Given the description of an element on the screen output the (x, y) to click on. 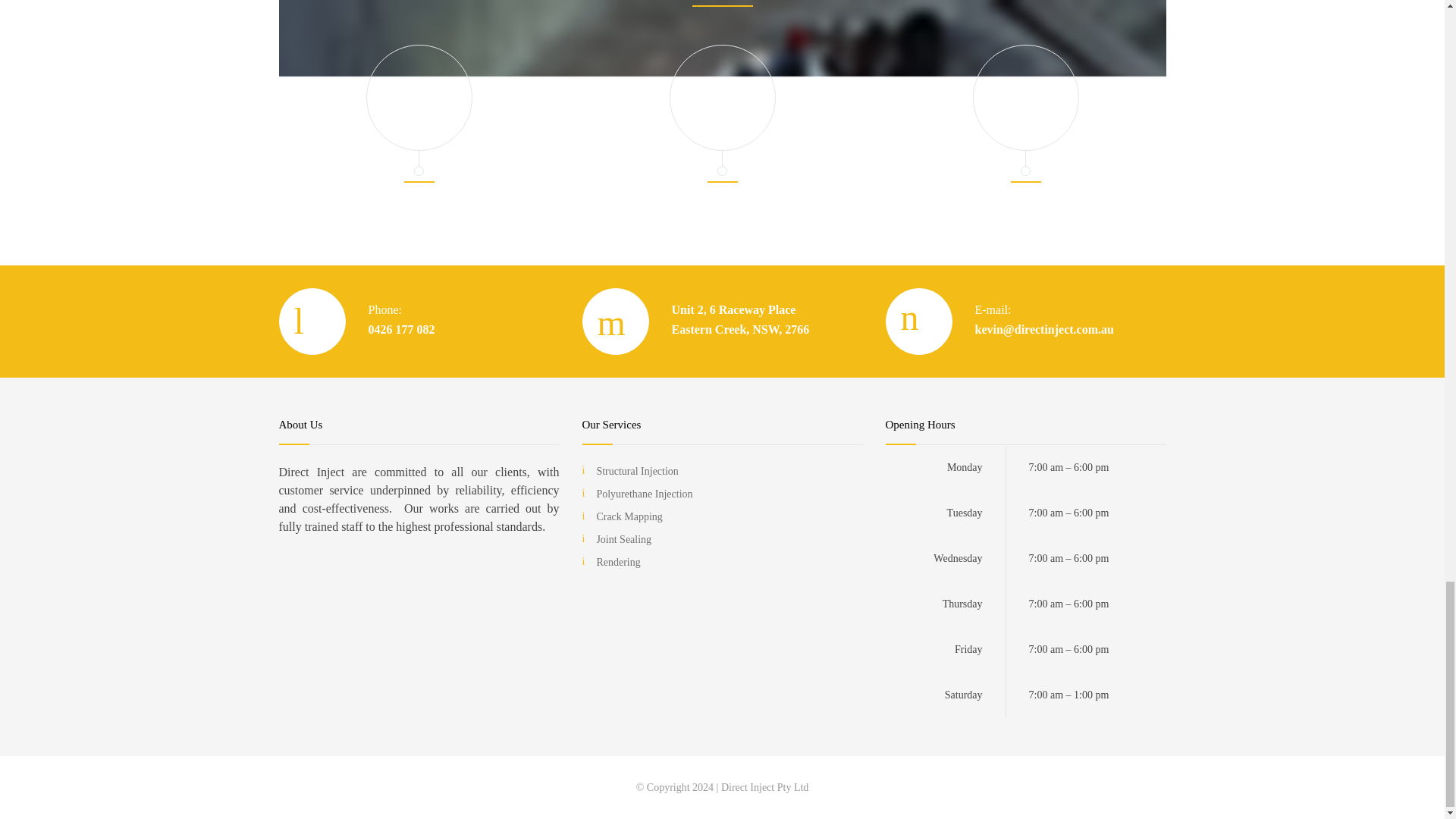
Polyurethane Injection (644, 493)
Joint Sealing (622, 539)
Crack Mapping (628, 516)
Structural Injection (636, 471)
Rendering (617, 562)
0426 177 082 (401, 328)
